Given the description of an element on the screen output the (x, y) to click on. 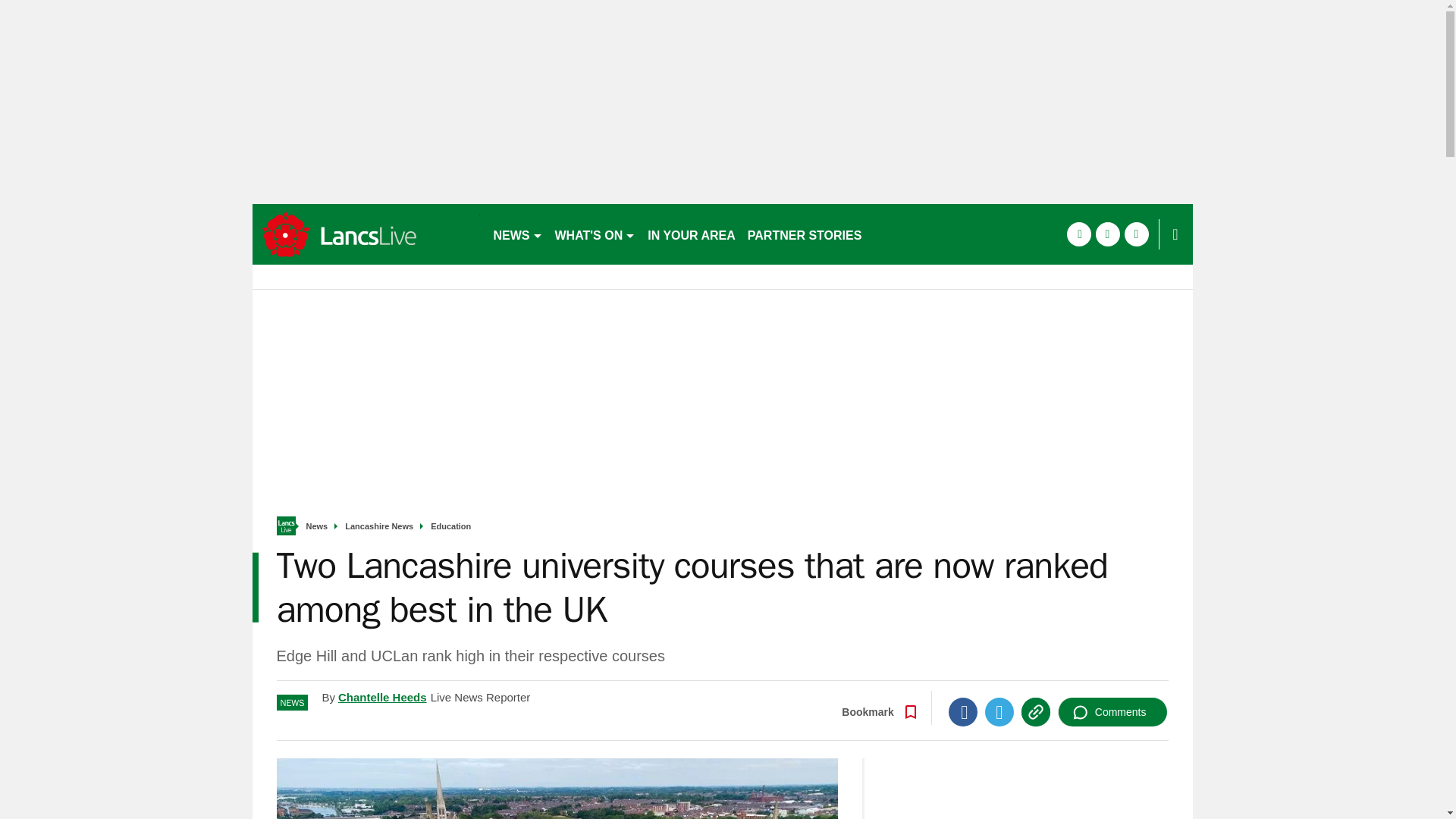
instagram (1136, 233)
PARTNER STORIES (804, 233)
facebook (1077, 233)
WHAT'S ON (595, 233)
IN YOUR AREA (691, 233)
accrington (365, 233)
Facebook (962, 711)
twitter (1106, 233)
Comments (1112, 711)
NEWS (517, 233)
